Given the description of an element on the screen output the (x, y) to click on. 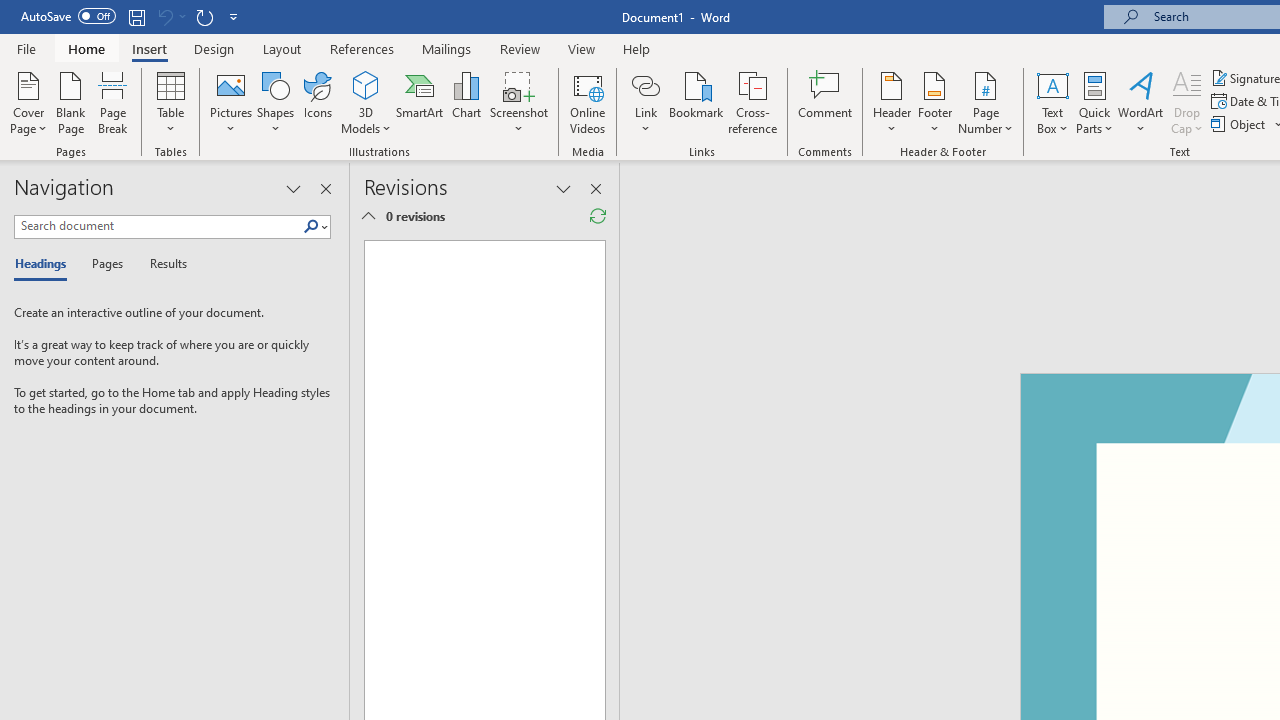
Cover Page (28, 102)
Screenshot (518, 102)
Pictures (230, 102)
Show Detailed Summary (368, 215)
Comment (825, 102)
Bookmark... (695, 102)
3D Models (366, 84)
